Given the description of an element on the screen output the (x, y) to click on. 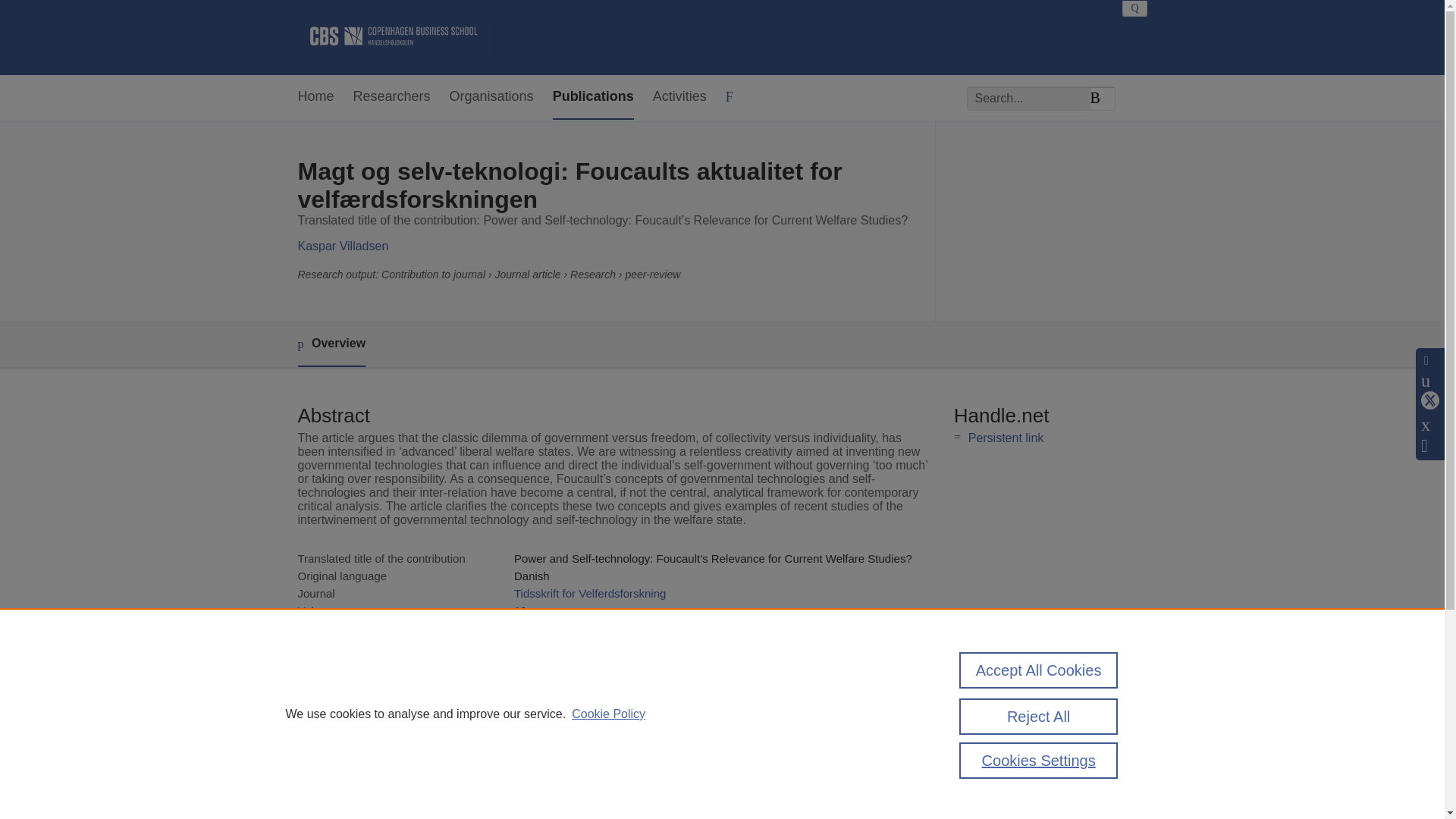
Activities (679, 97)
Accept All Cookies (1038, 669)
Organisations (491, 97)
Cookies Settings (1038, 760)
Researchers (391, 97)
Reject All (1038, 716)
Persistent link (1005, 437)
Overview (331, 344)
Publications (593, 97)
CBS Research Portal Home (393, 37)
